Given the description of an element on the screen output the (x, y) to click on. 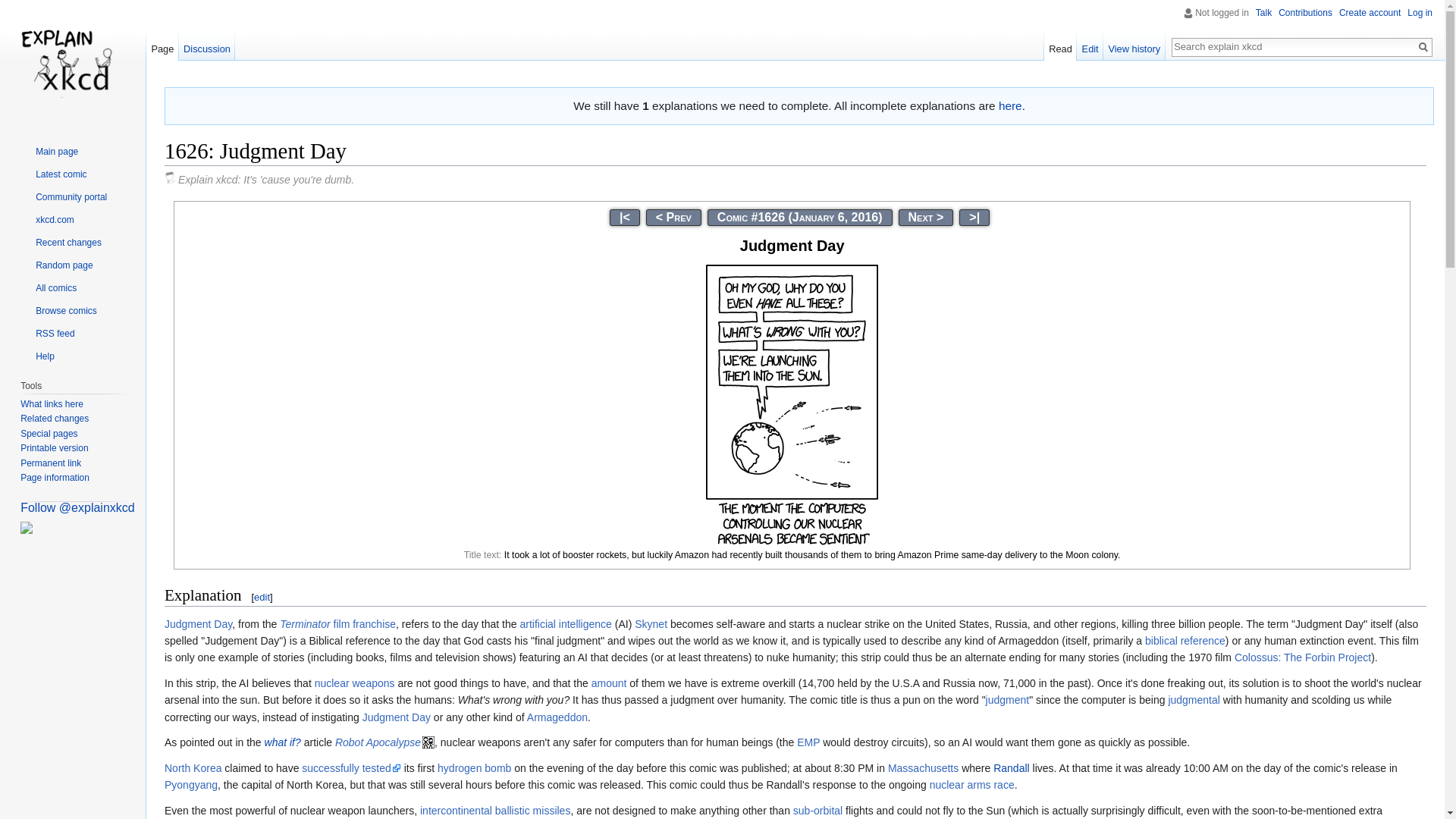
edit (261, 596)
Search (1423, 46)
sub-orbital (818, 810)
EMP (807, 742)
1 (624, 216)
Robot Apocalypse (383, 742)
wikipedia:Judgment (1007, 699)
here (1010, 105)
nuclear weapons (354, 683)
